Given the description of an element on the screen output the (x, y) to click on. 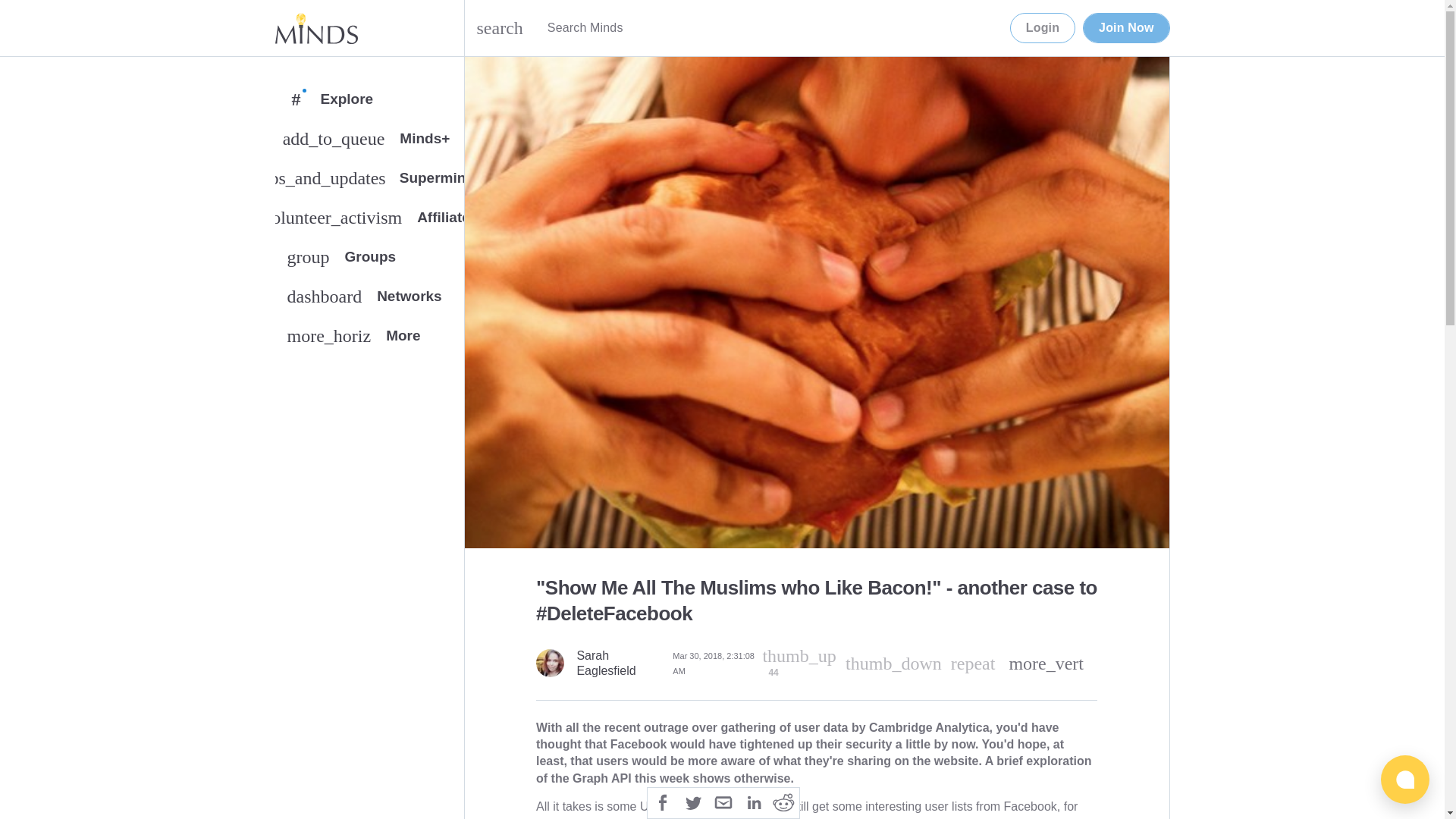
Join Now (1126, 28)
Facebook (662, 801)
Twitter (692, 801)
Join Now (369, 299)
LinkedIn (1126, 28)
Login (753, 801)
Sarah Eaglesfield (1042, 28)
Home (369, 260)
repeat (620, 663)
Login (315, 28)
Reddit (972, 663)
Email (1042, 28)
